Given the description of an element on the screen output the (x, y) to click on. 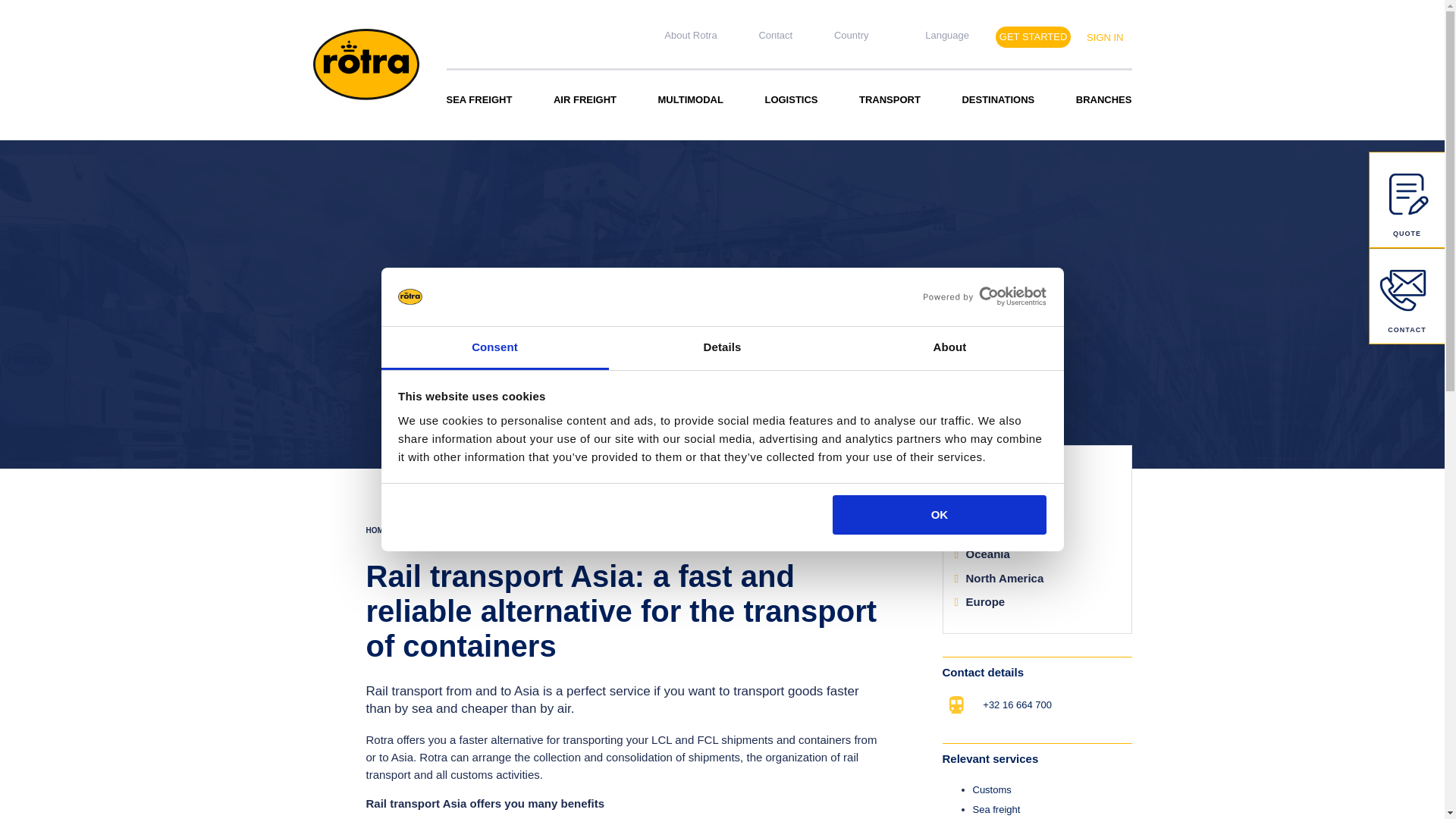
logo (366, 63)
Consent (494, 348)
Details (721, 348)
About (948, 348)
